Given the description of an element on the screen output the (x, y) to click on. 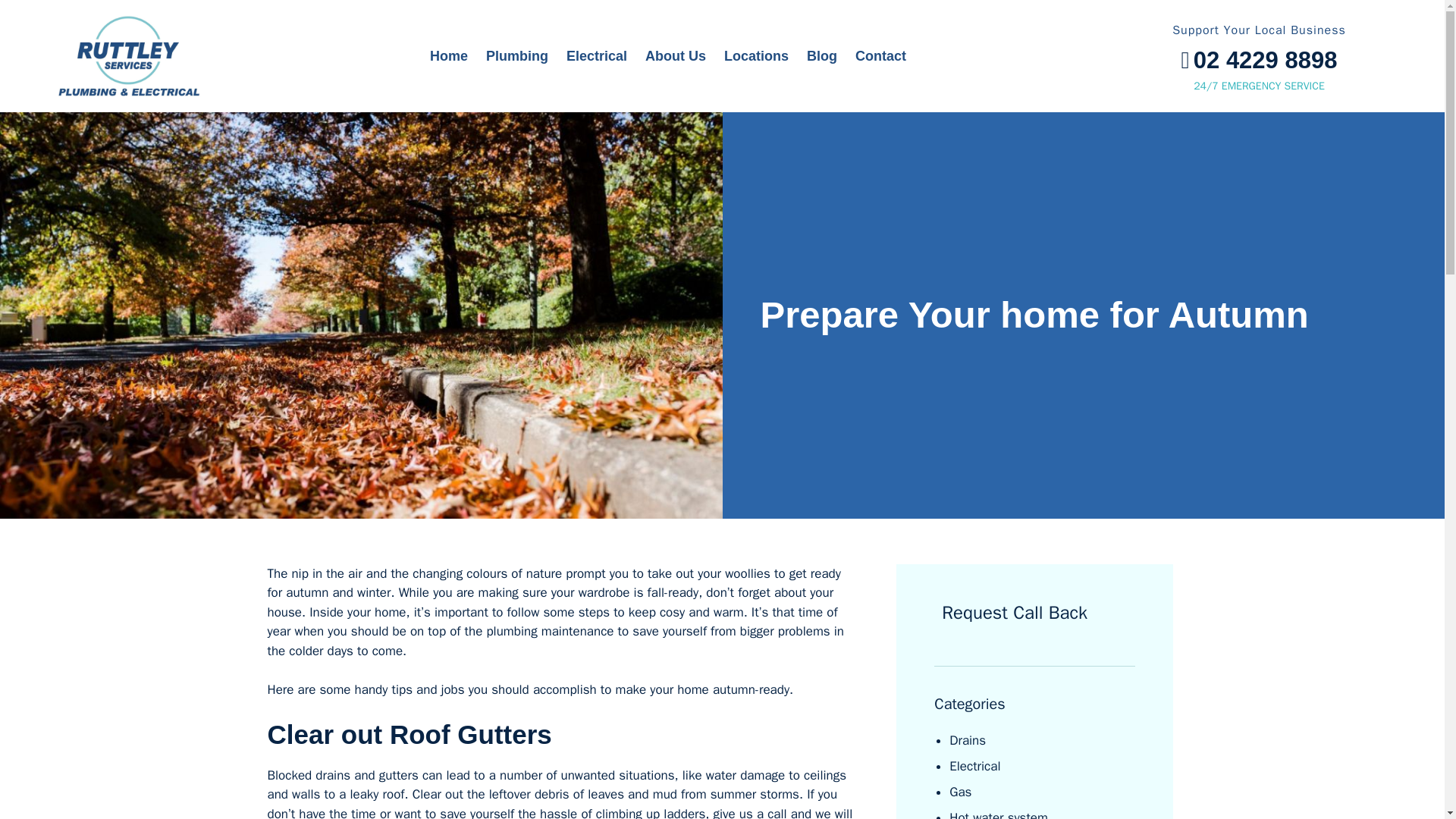
Electrical (596, 55)
Contact (880, 55)
About Us (675, 55)
Blog (821, 55)
Home (448, 55)
Plumbing (517, 55)
Locations (755, 55)
